Given the description of an element on the screen output the (x, y) to click on. 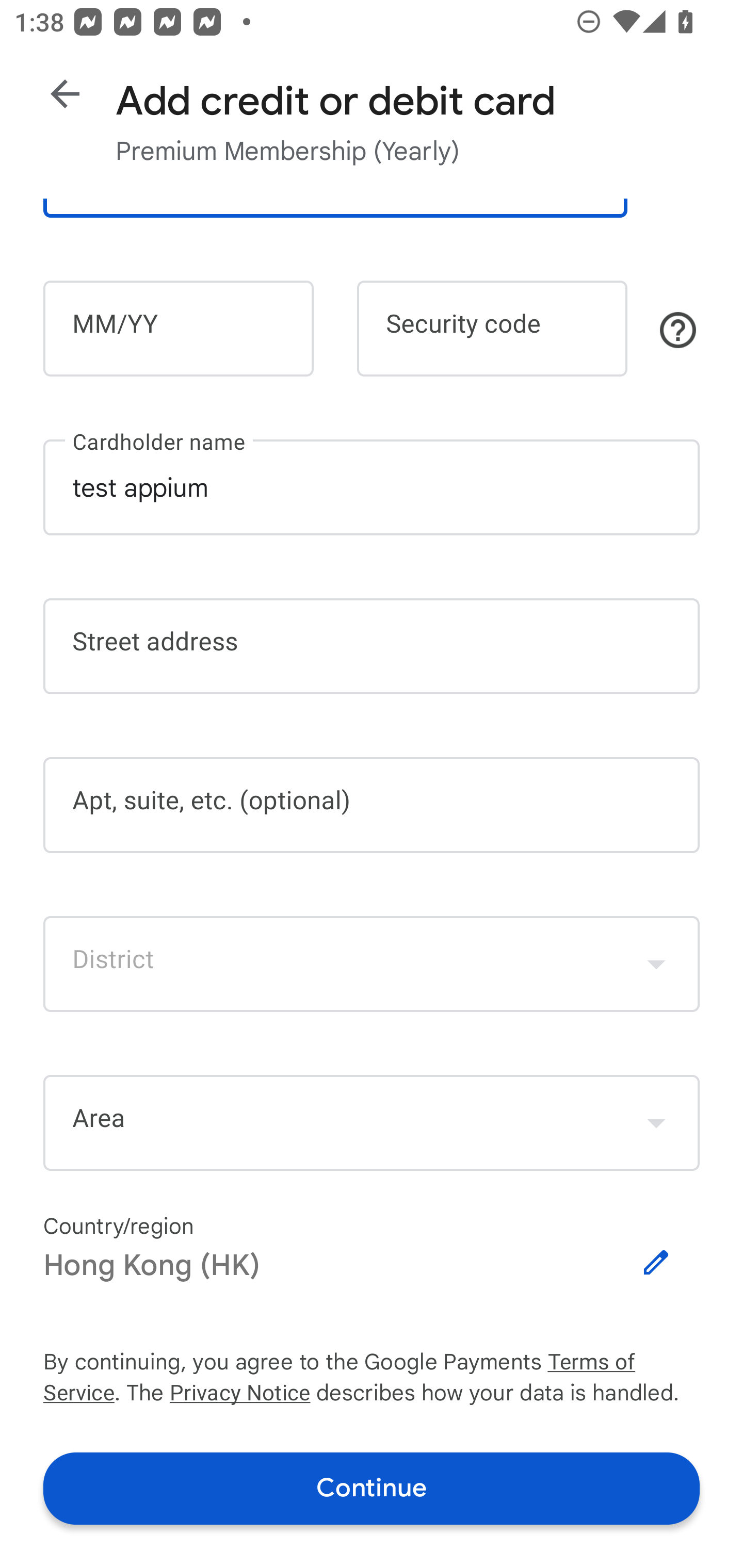
Back (64, 93)
Expiration date, 2 digit month, 2 digit year (178, 328)
Security code (492, 328)
Security code help (677, 329)
test appium (371, 486)
Street address (371, 646)
Apt, suite, etc. (optional) (371, 804)
District (371, 963)
Show dropdown menu (655, 963)
Area (371, 1123)
Show dropdown menu (655, 1122)
country edit button (655, 1262)
Terms of Service (623, 1362)
Privacy Notice (239, 1394)
Continue (371, 1487)
